Given the description of an element on the screen output the (x, y) to click on. 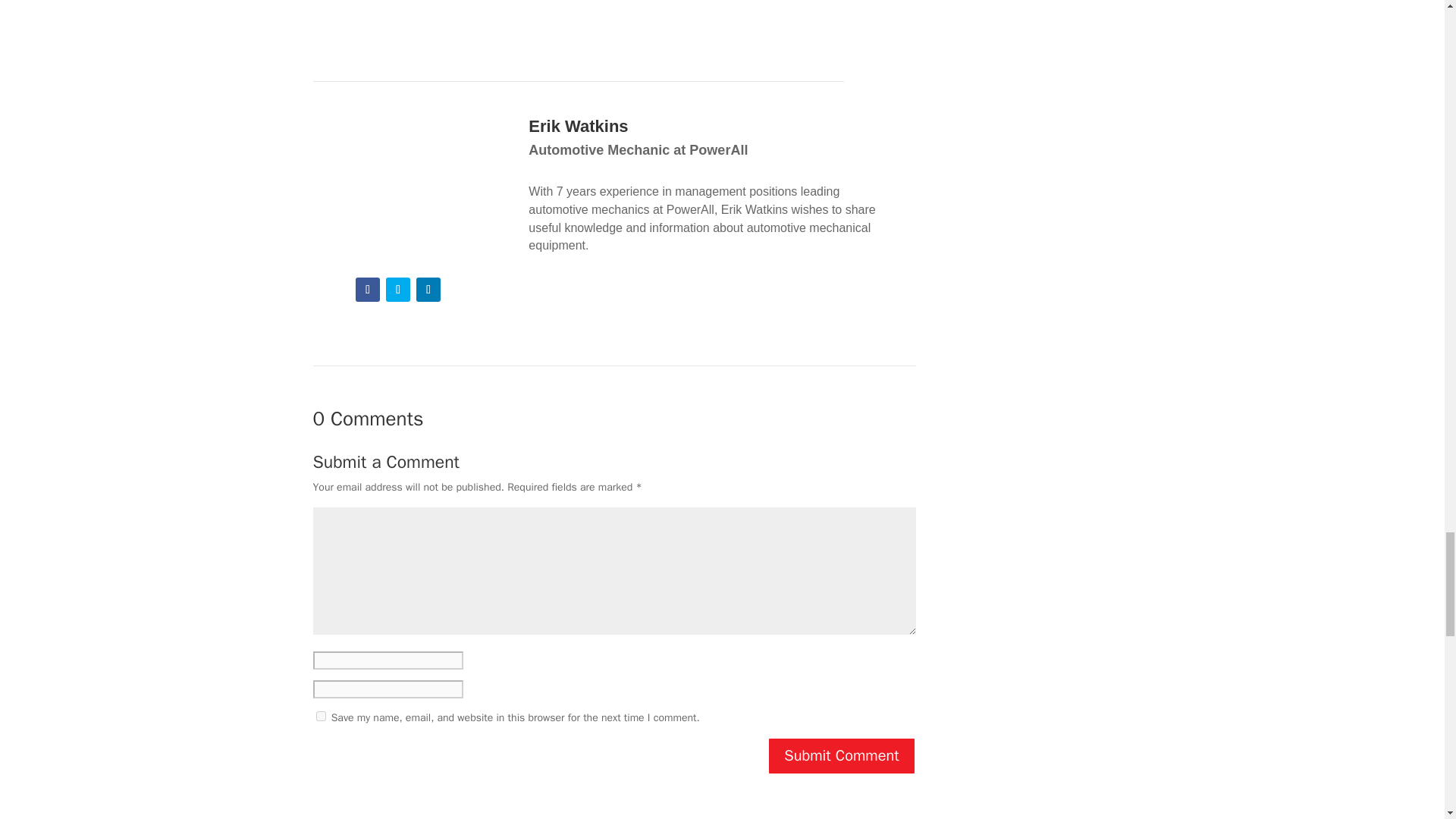
Follow on LinkedIn (428, 289)
Erik Watkins Powerall (397, 185)
yes (319, 716)
Follow on Facebook (367, 289)
Submit Comment (841, 755)
Erik Watkins (577, 126)
Follow on Twitter (397, 289)
